Given the description of an element on the screen output the (x, y) to click on. 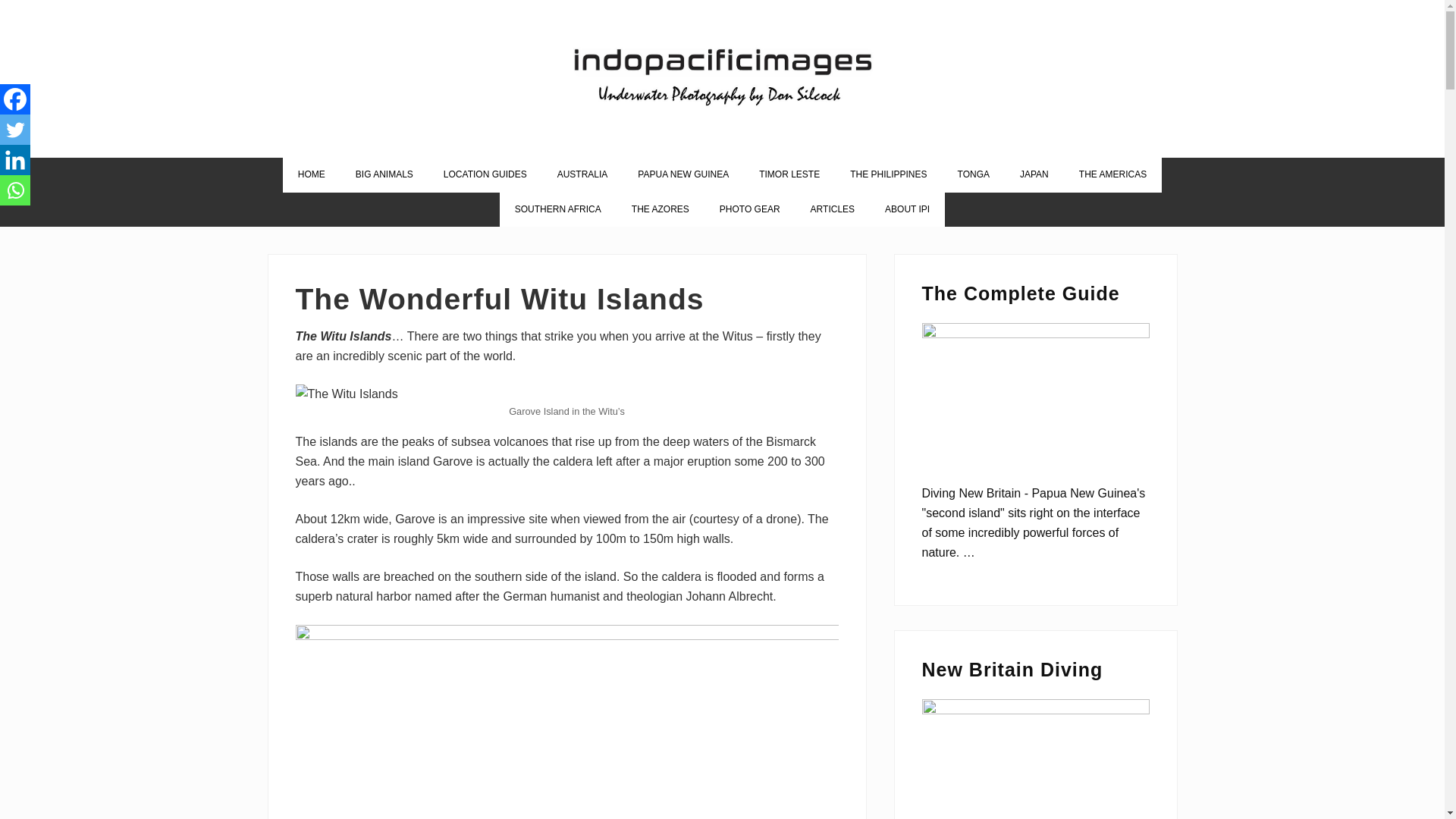
TIMOR LESTE (789, 175)
AUSTRALIA (582, 175)
HOME (311, 175)
PNG (683, 175)
Facebook (15, 99)
Linkedin (15, 159)
THE PHILIPPINES (888, 175)
PAPUA NEW GUINEA (683, 175)
Whatsapp (15, 190)
Twitter (15, 129)
BIG ANIMALS (384, 175)
LOCATION GUIDES (484, 175)
